Given the description of an element on the screen output the (x, y) to click on. 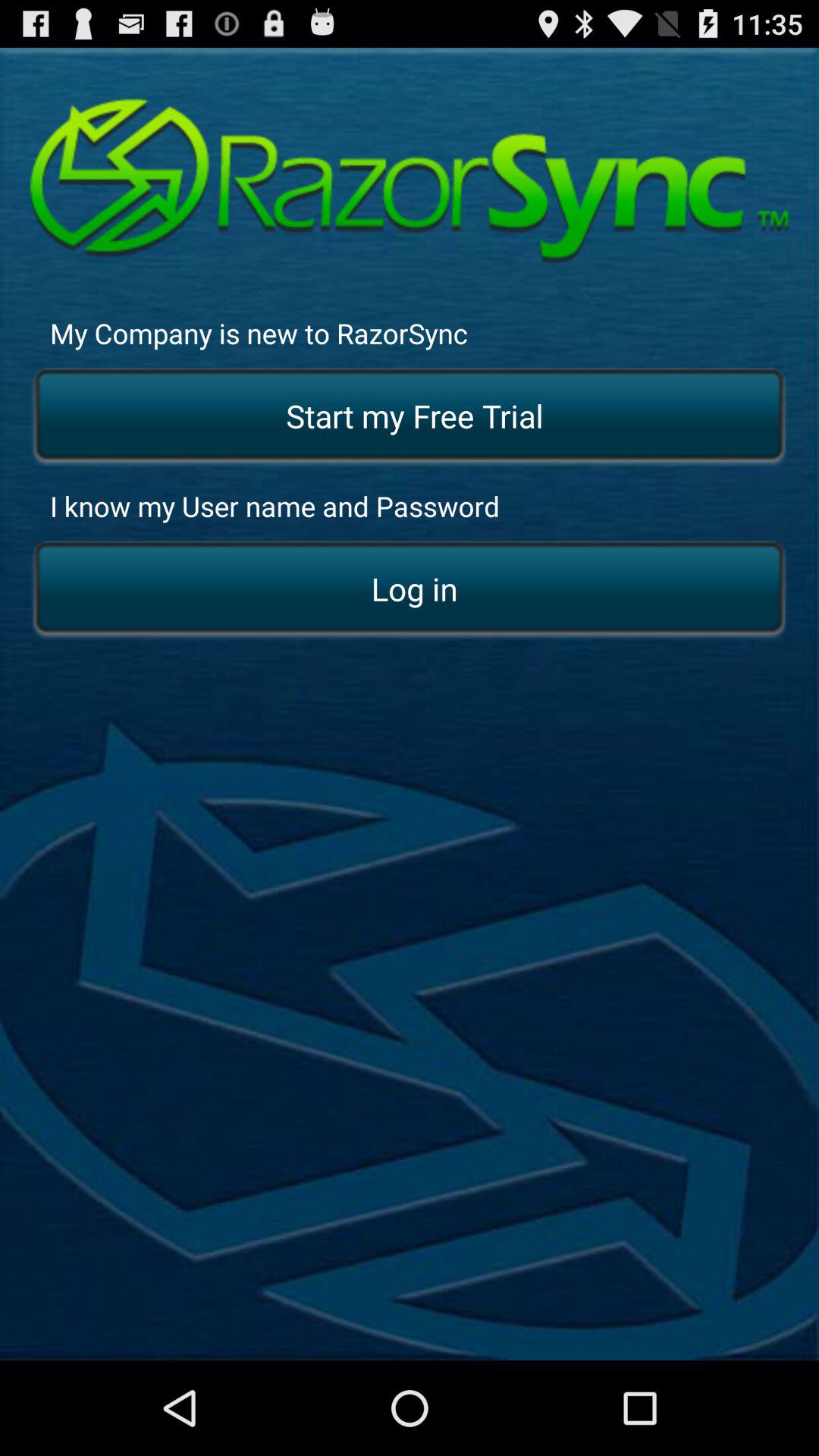
turn off start my free (409, 417)
